Given the description of an element on the screen output the (x, y) to click on. 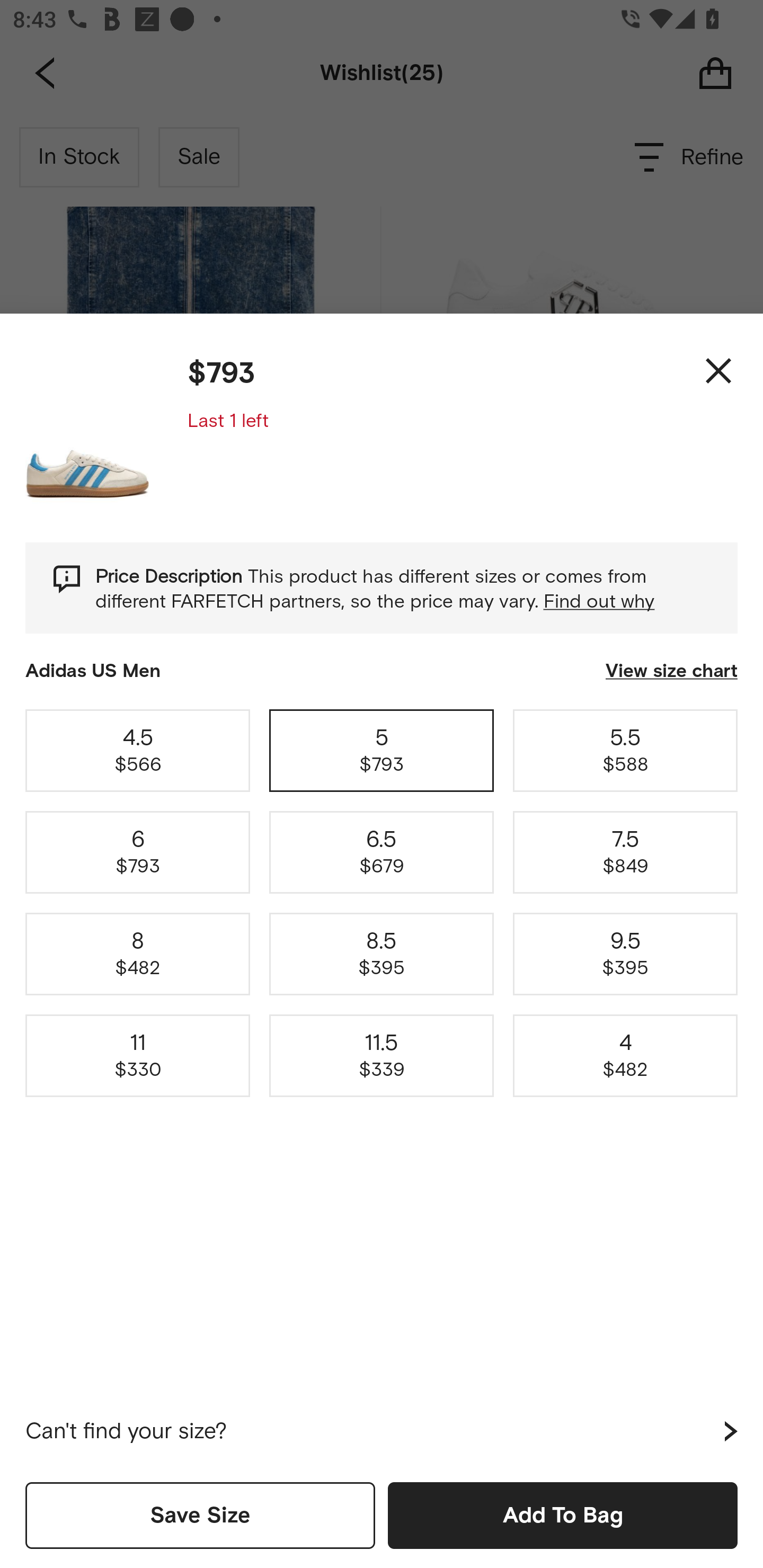
4.5 $566 (137, 749)
5 $793 (381, 749)
5.5 $588 (624, 749)
6 $793 (137, 851)
6.5 $679 (381, 851)
7.5 $849 (624, 851)
8 $482 (137, 953)
8.5 $395 (381, 953)
9.5 $395 (624, 953)
11 $330 (137, 1055)
11.5 $339 (381, 1055)
4 $482 (624, 1055)
Can't find your size? (381, 1431)
Save Size (200, 1515)
Add To Bag (562, 1515)
